Given the description of an element on the screen output the (x, y) to click on. 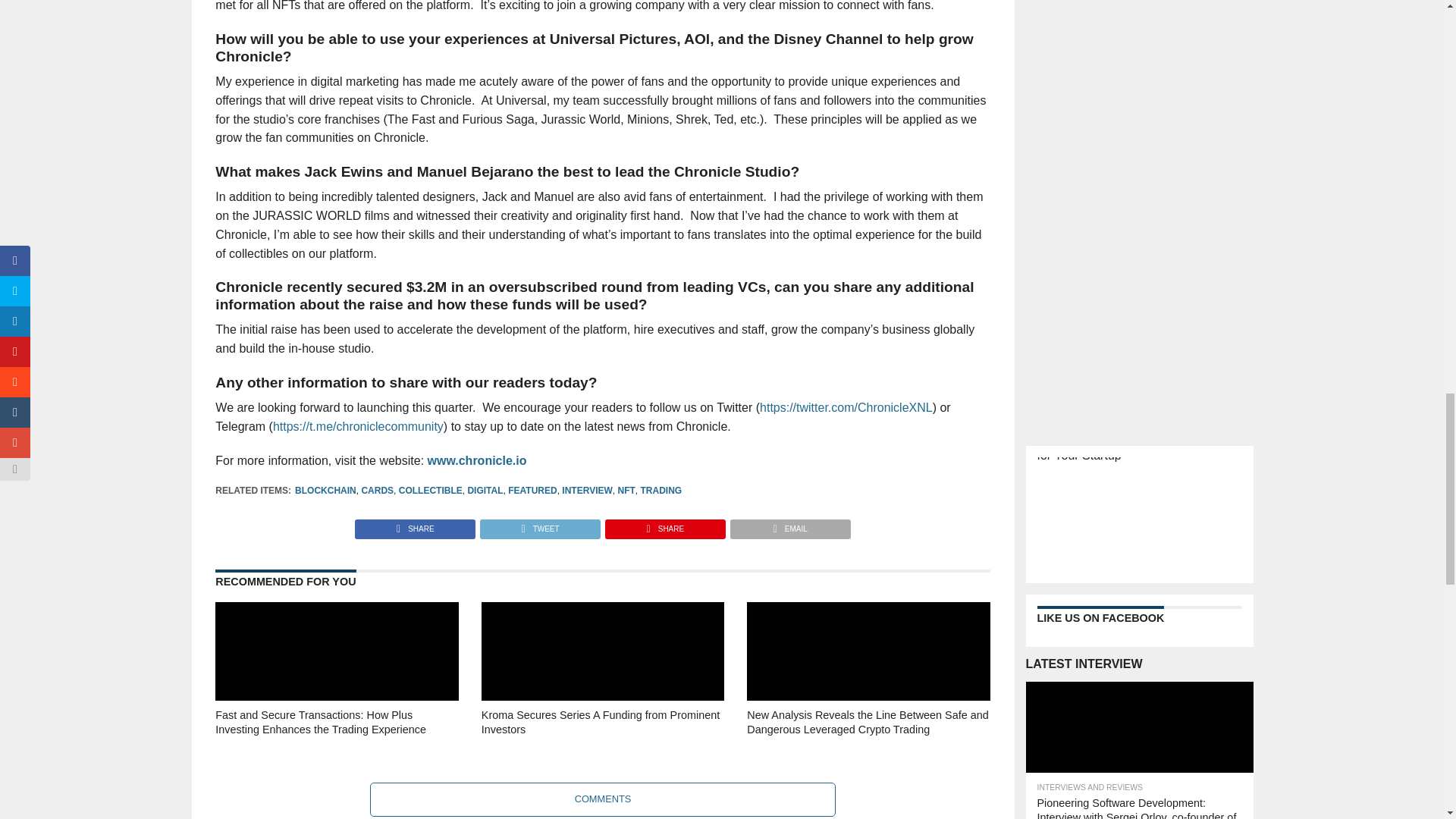
Pin This Post (664, 524)
Share on Facebook (415, 524)
Kroma Secures Series A Funding from Prominent Investors (602, 743)
Tweet This Post (539, 524)
